Given the description of an element on the screen output the (x, y) to click on. 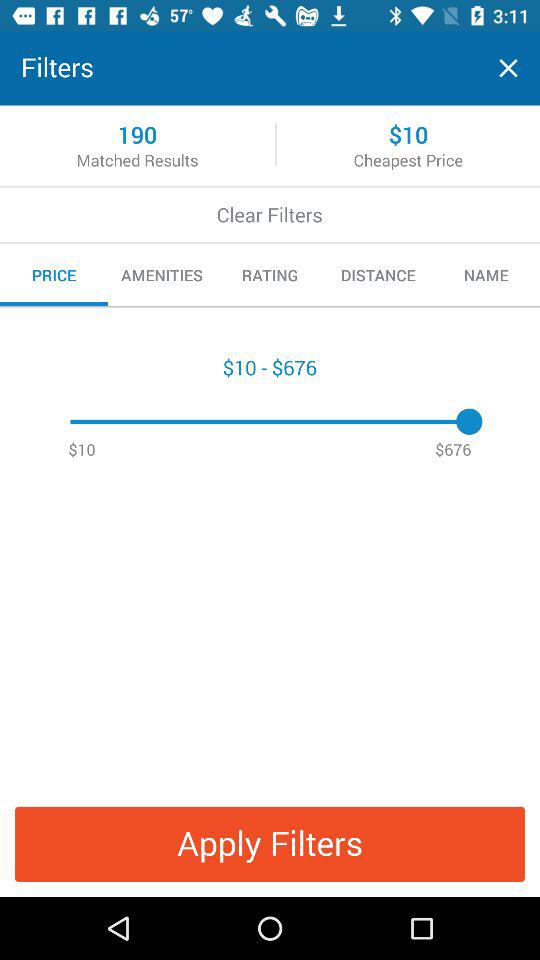
choose item to the right of the filters (508, 67)
